Given the description of an element on the screen output the (x, y) to click on. 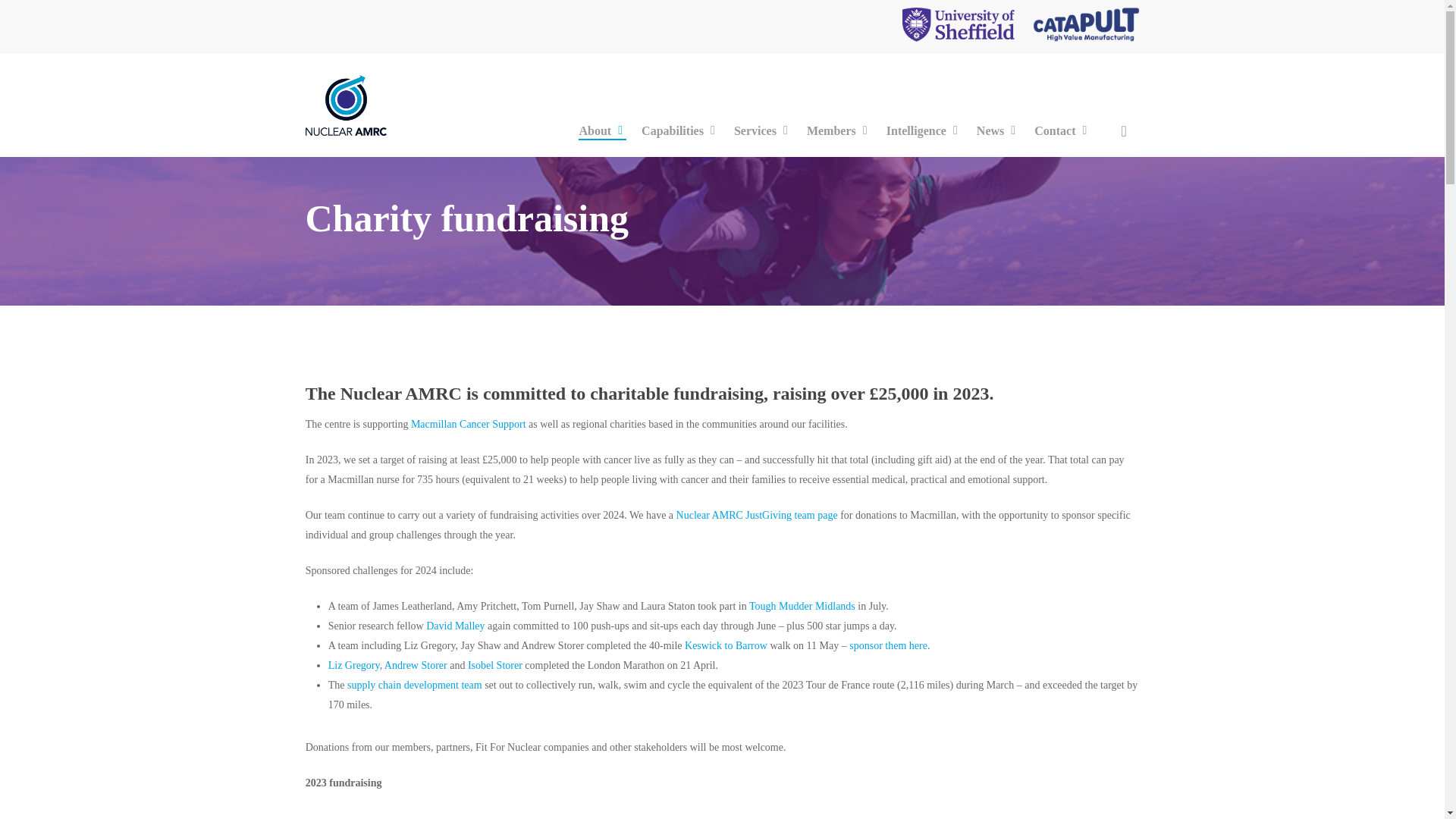
Capabilities (680, 131)
About (602, 131)
Services (762, 131)
